Given the description of an element on the screen output the (x, y) to click on. 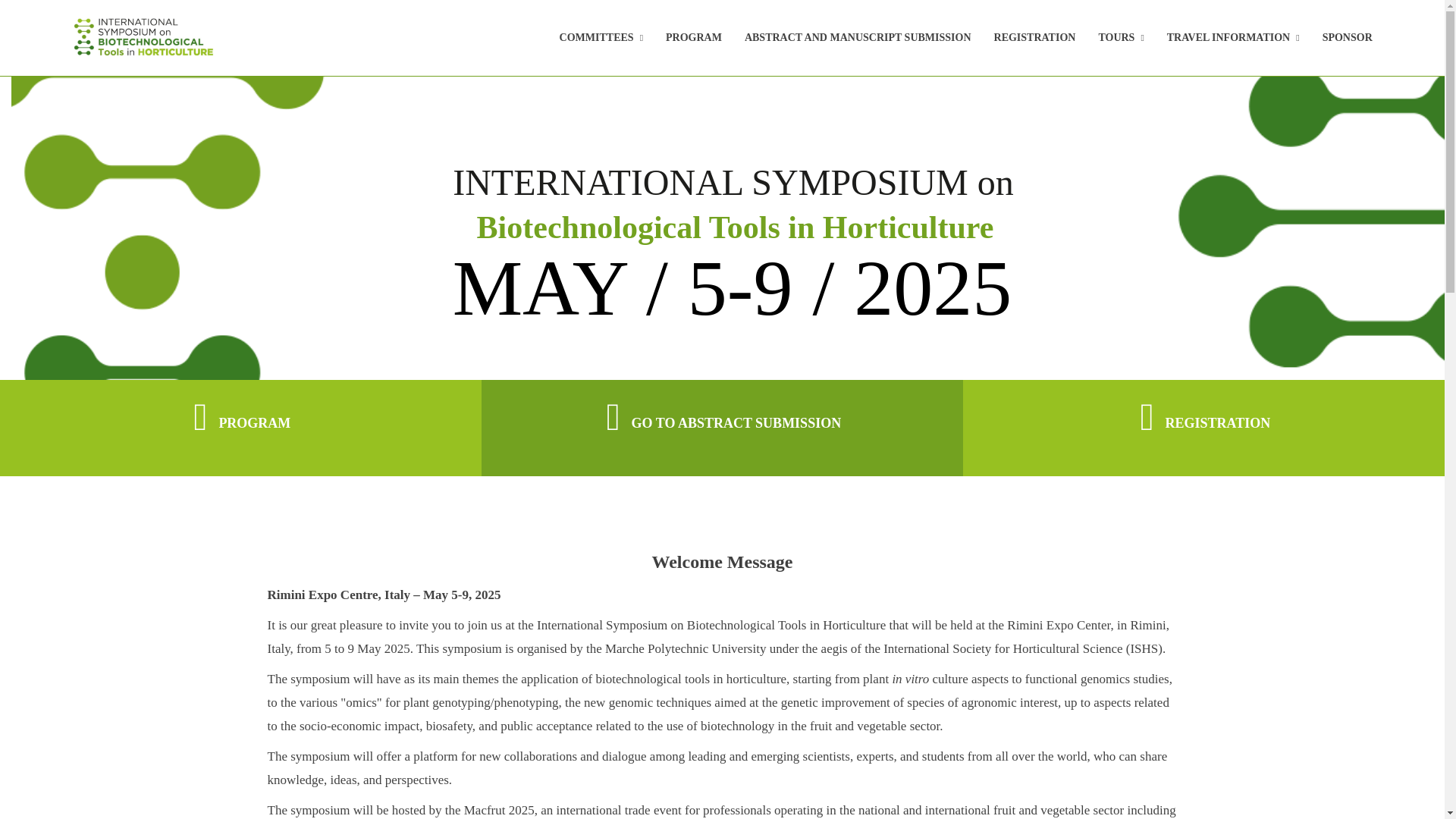
GO TO ABSTRACT SUBMISSION (722, 416)
REGISTRATION (1034, 38)
PROGRAM (240, 416)
ABSTRACT AND MANUSCRIPT SUBMISSION (857, 38)
COMMITTEES (601, 38)
REGISTRATION (1203, 416)
TRAVEL INFORMATION (1233, 38)
